Given the description of an element on the screen output the (x, y) to click on. 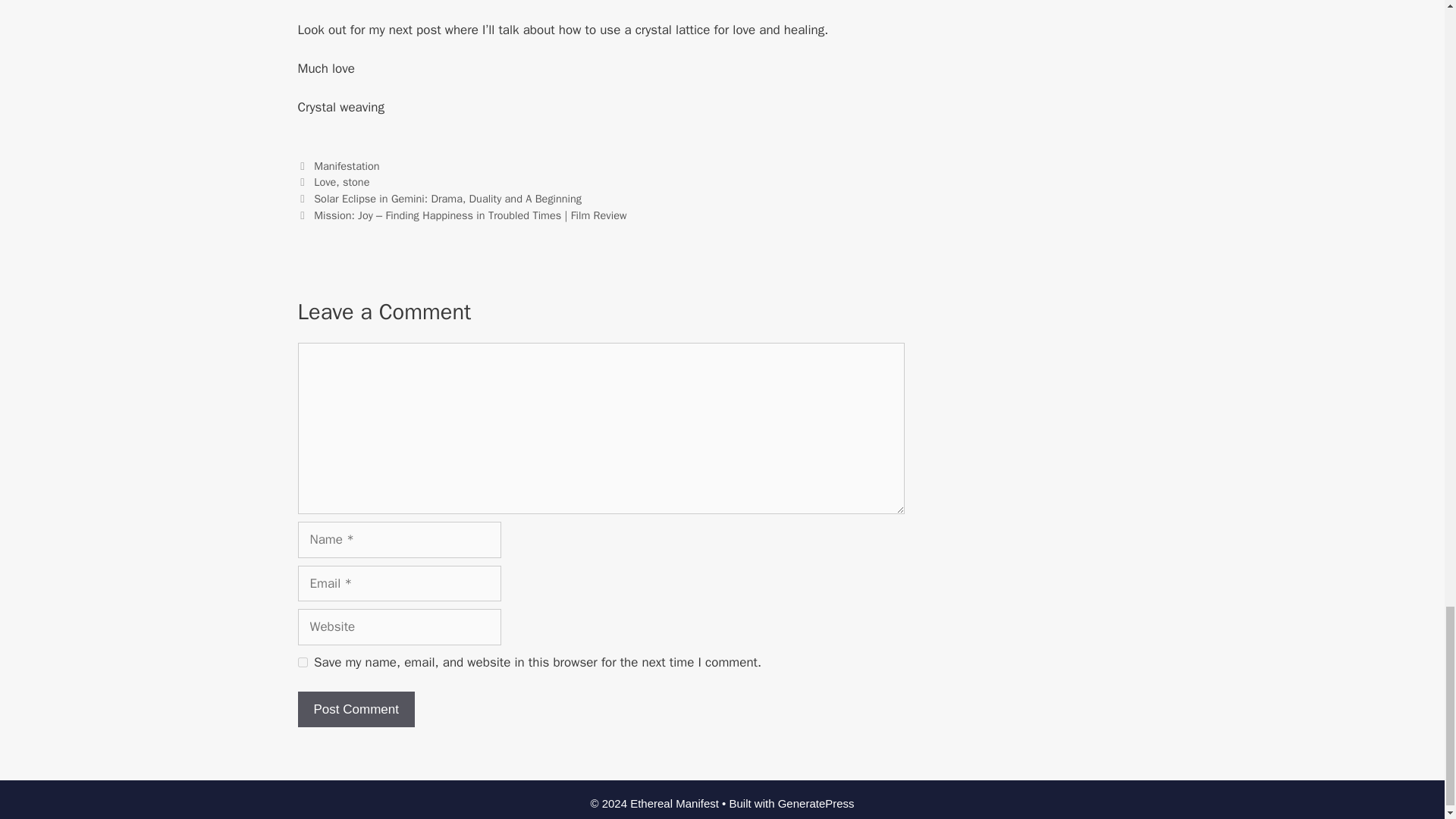
Next (461, 214)
Manifestation (346, 165)
stone (355, 182)
yes (302, 662)
Solar Eclipse in Gemini: Drama, Duality and A Beginning (447, 198)
Post Comment (355, 709)
Post Comment (355, 709)
Love (325, 182)
Previous (438, 198)
